Given the description of an element on the screen output the (x, y) to click on. 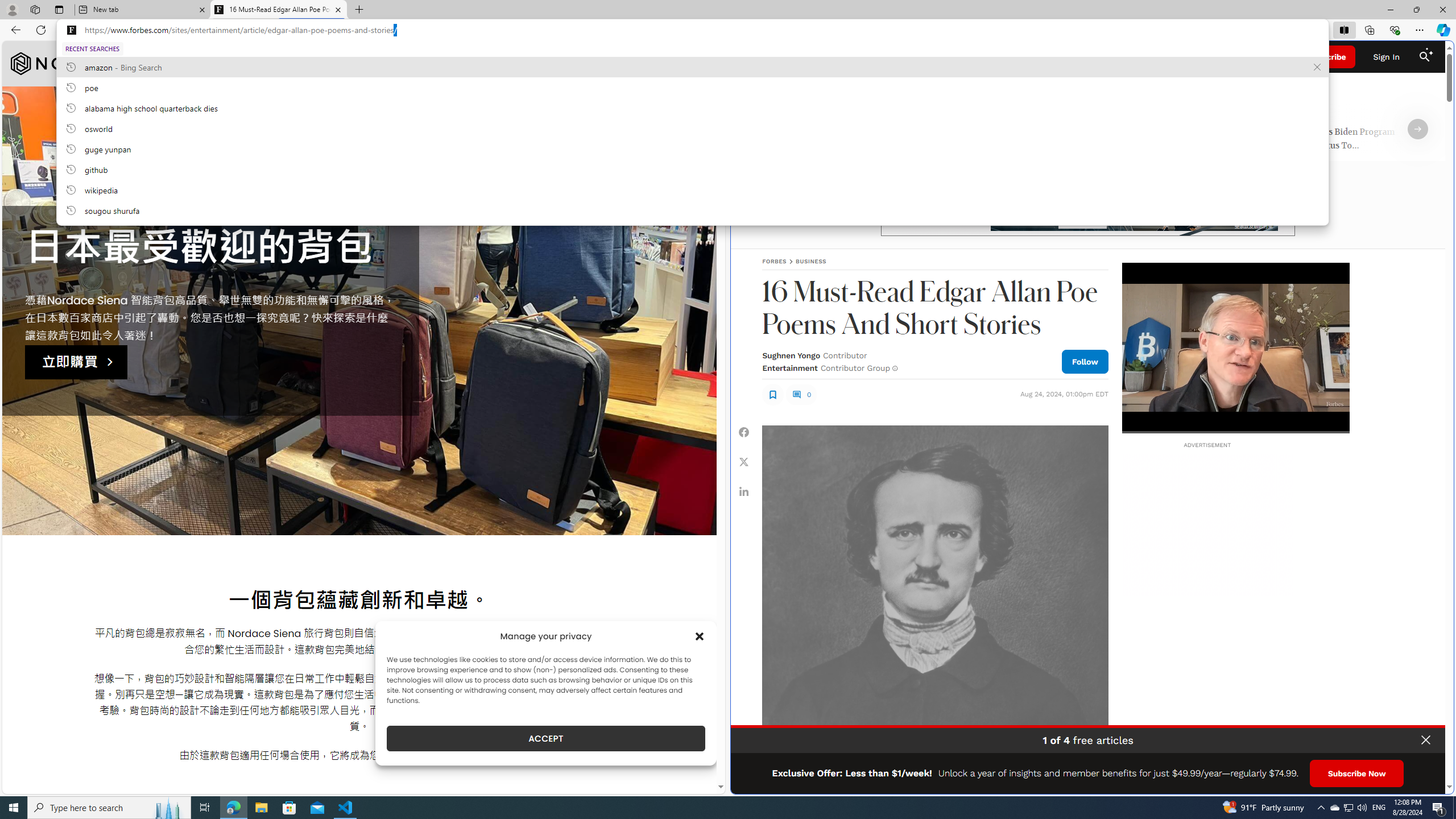
Class: article-sharing__item (743, 490)
Class: sparkles_svg__fs-icon sparkles_svg__fs-icon--sparkles (1430, 51)
Share Linkedin (743, 490)
poe, recent searches from history (691, 86)
ACCEPT (545, 738)
Subscribe Now (1356, 773)
Class: fs-icon fs-icon--arrow-right (1417, 129)
Remove suggestion (1316, 66)
Class: fs-icon fs-icon--linkedin (743, 490)
